Given the description of an element on the screen output the (x, y) to click on. 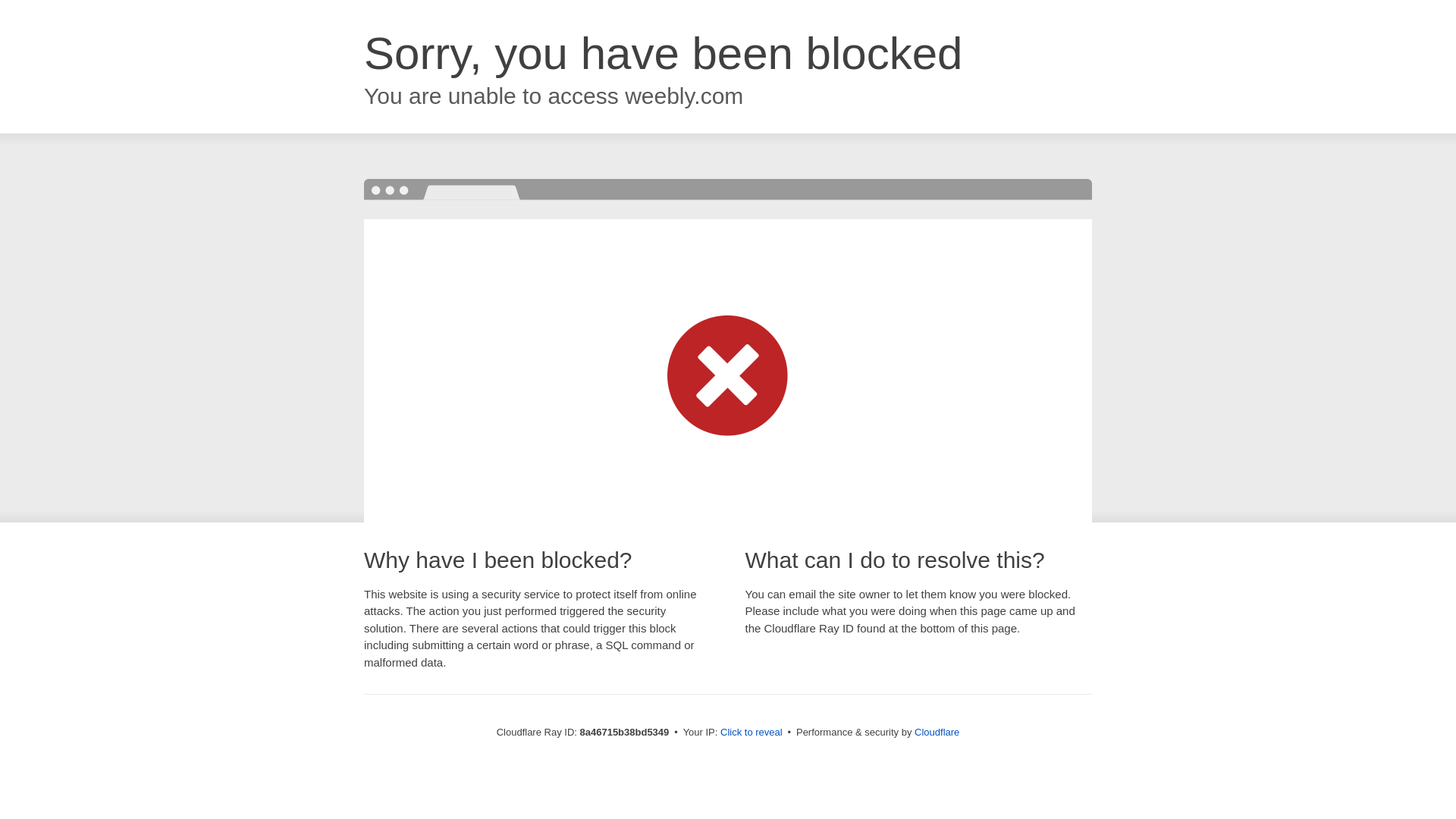
Cloudflare (936, 731)
Click to reveal (751, 732)
